Given the description of an element on the screen output the (x, y) to click on. 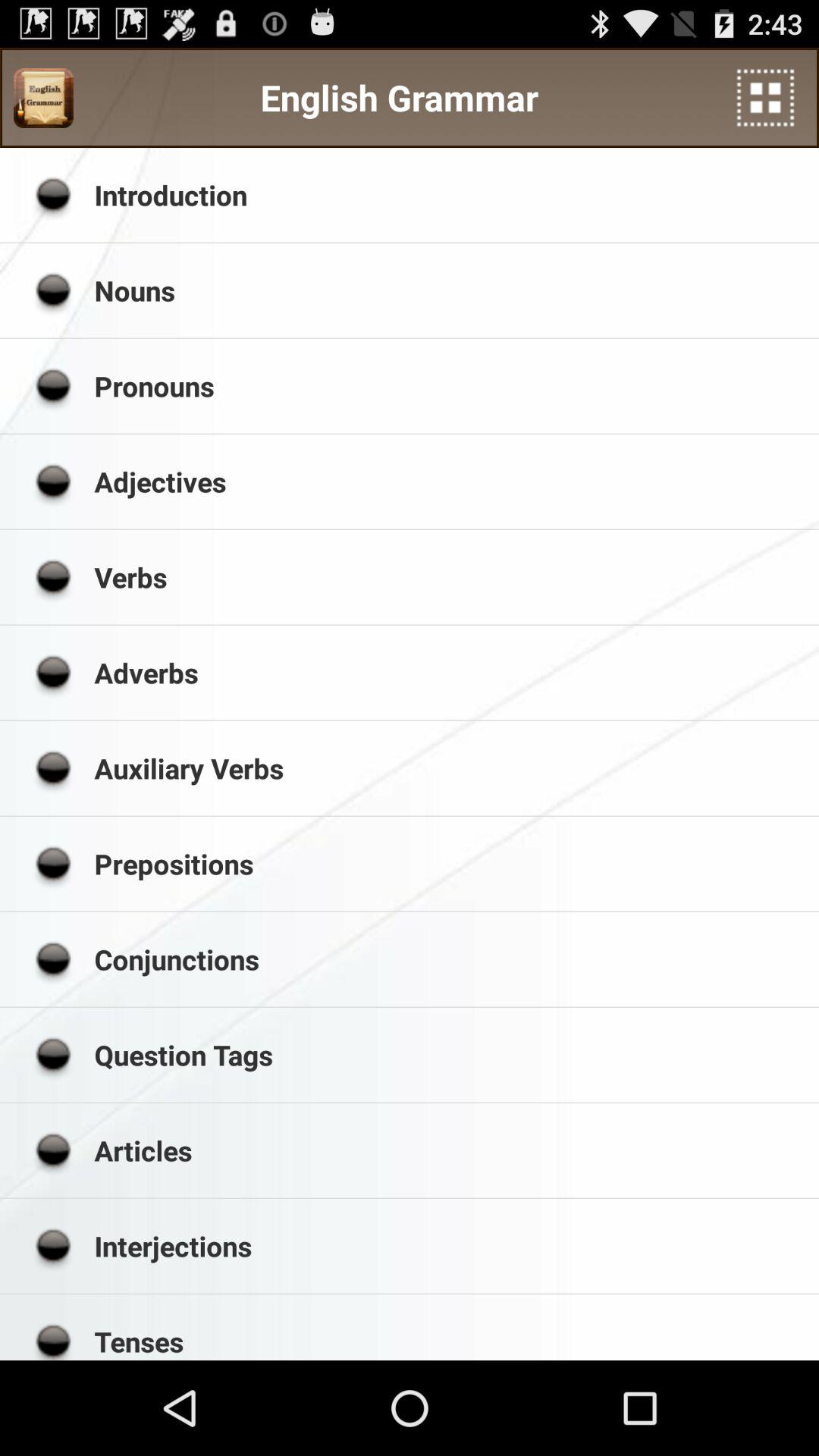
press the auxiliary verbs app (451, 768)
